Given the description of an element on the screen output the (x, y) to click on. 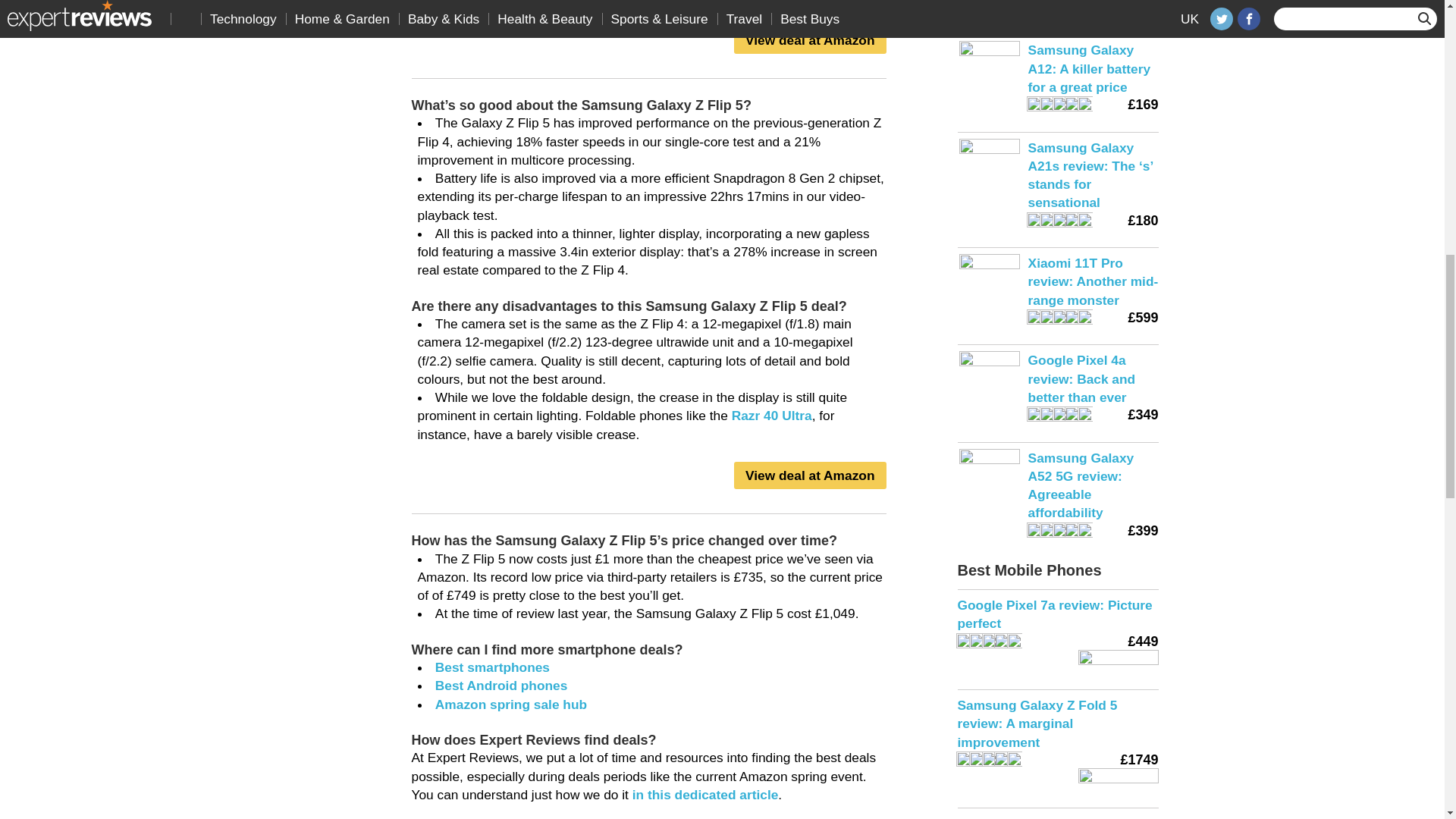
Razr 40 Ultra (772, 415)
Best smartphones (492, 667)
How Expert Reviews finds deals (704, 794)
View deal at Amazon (809, 474)
Best Android phones (501, 685)
Amazon spring sale hub (510, 703)
View deal at Amazon (809, 40)
